Given the description of an element on the screen output the (x, y) to click on. 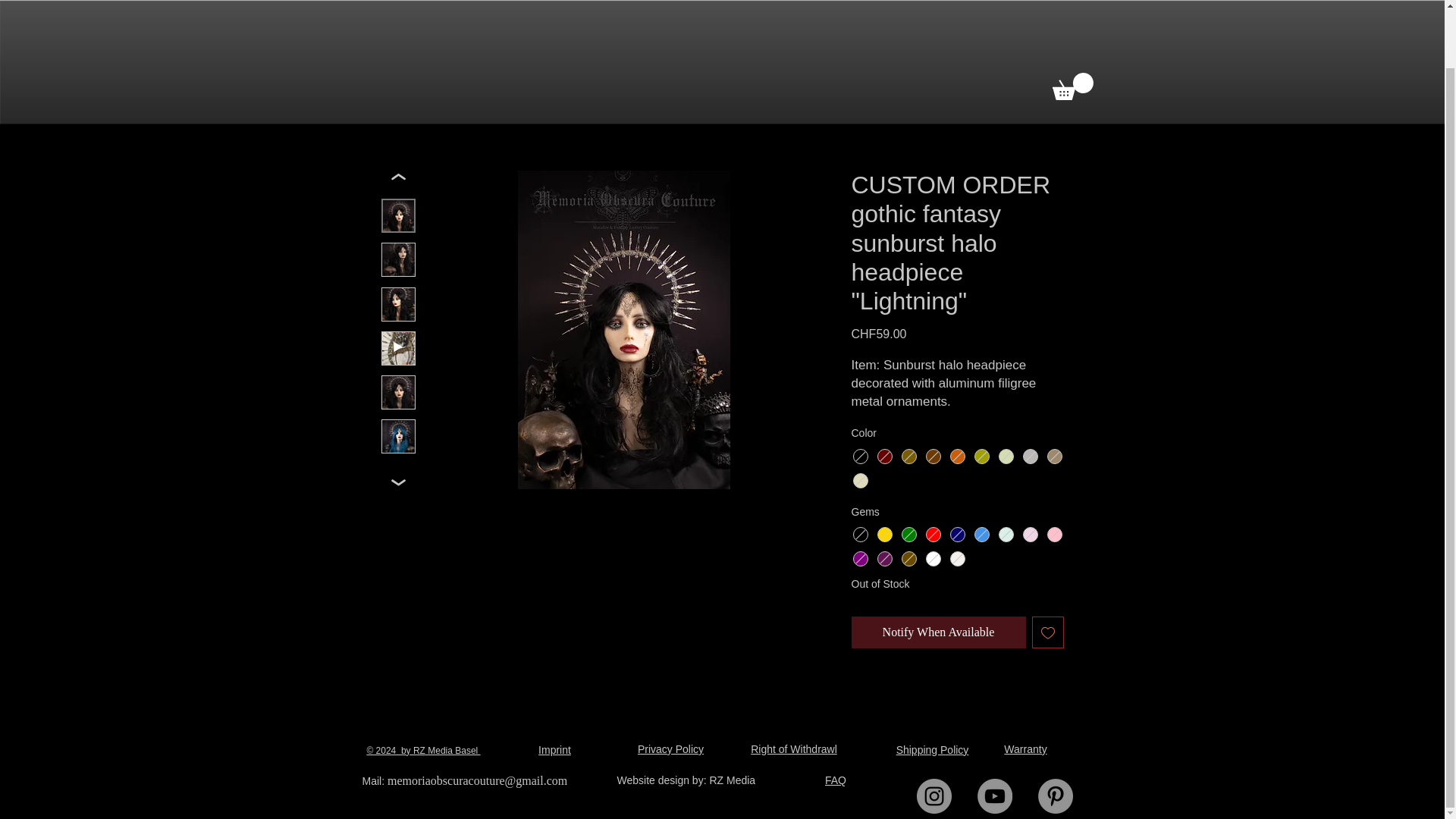
FAQ (835, 779)
Notify When Available (937, 632)
Shipping Policy (932, 749)
Imprint (554, 749)
Right of Withdrawl (794, 748)
Privacy Policy (670, 748)
Warranty (1025, 748)
